Given the description of an element on the screen output the (x, y) to click on. 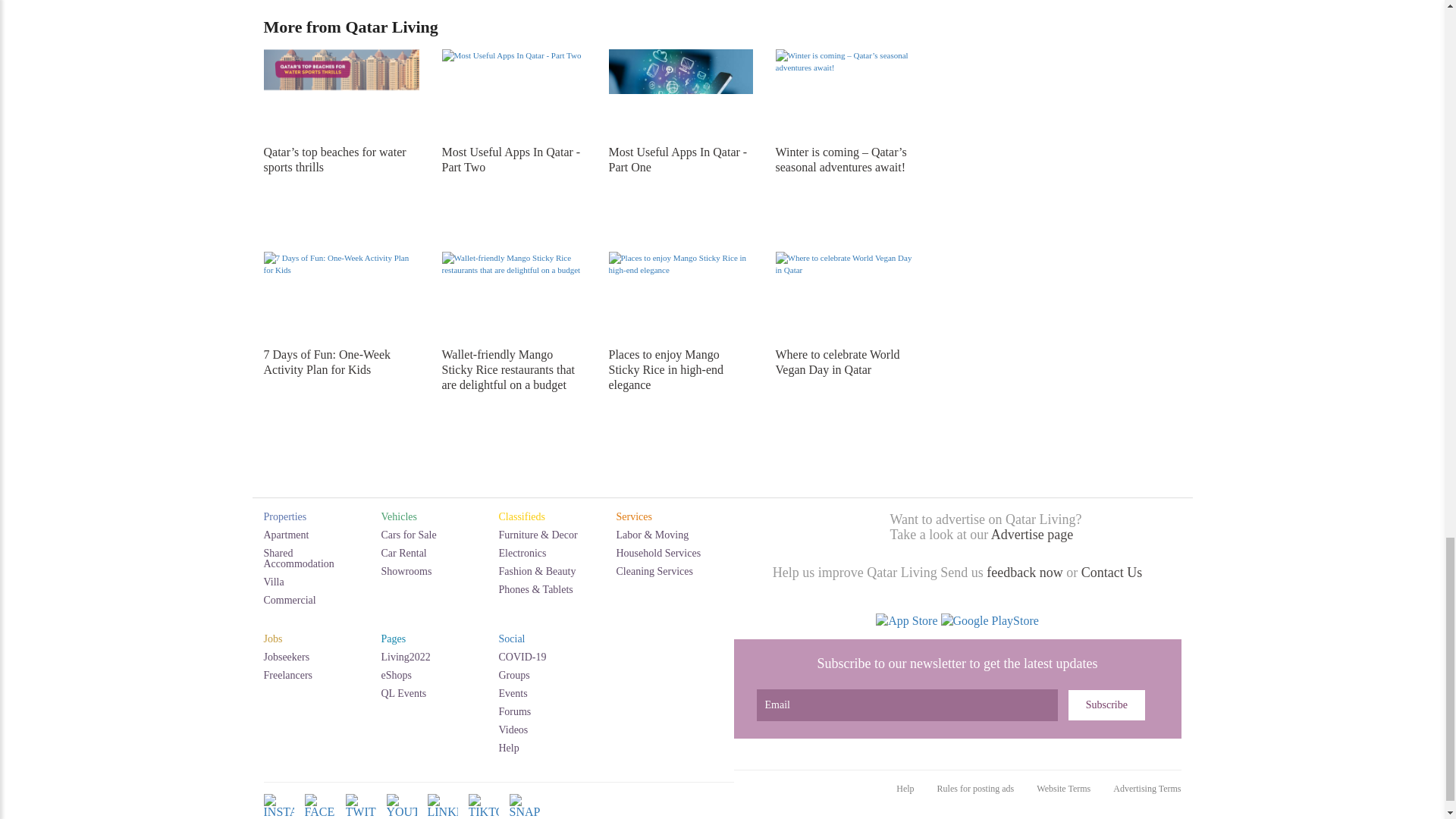
TWITTER (360, 815)
TIKTOK (483, 815)
SNAPCHAT (524, 815)
YOUTUBE (401, 815)
LINKEDIN (443, 815)
Subscribe (1106, 705)
INSTAGRAM (278, 815)
FACEBOOK (319, 815)
